Given the description of an element on the screen output the (x, y) to click on. 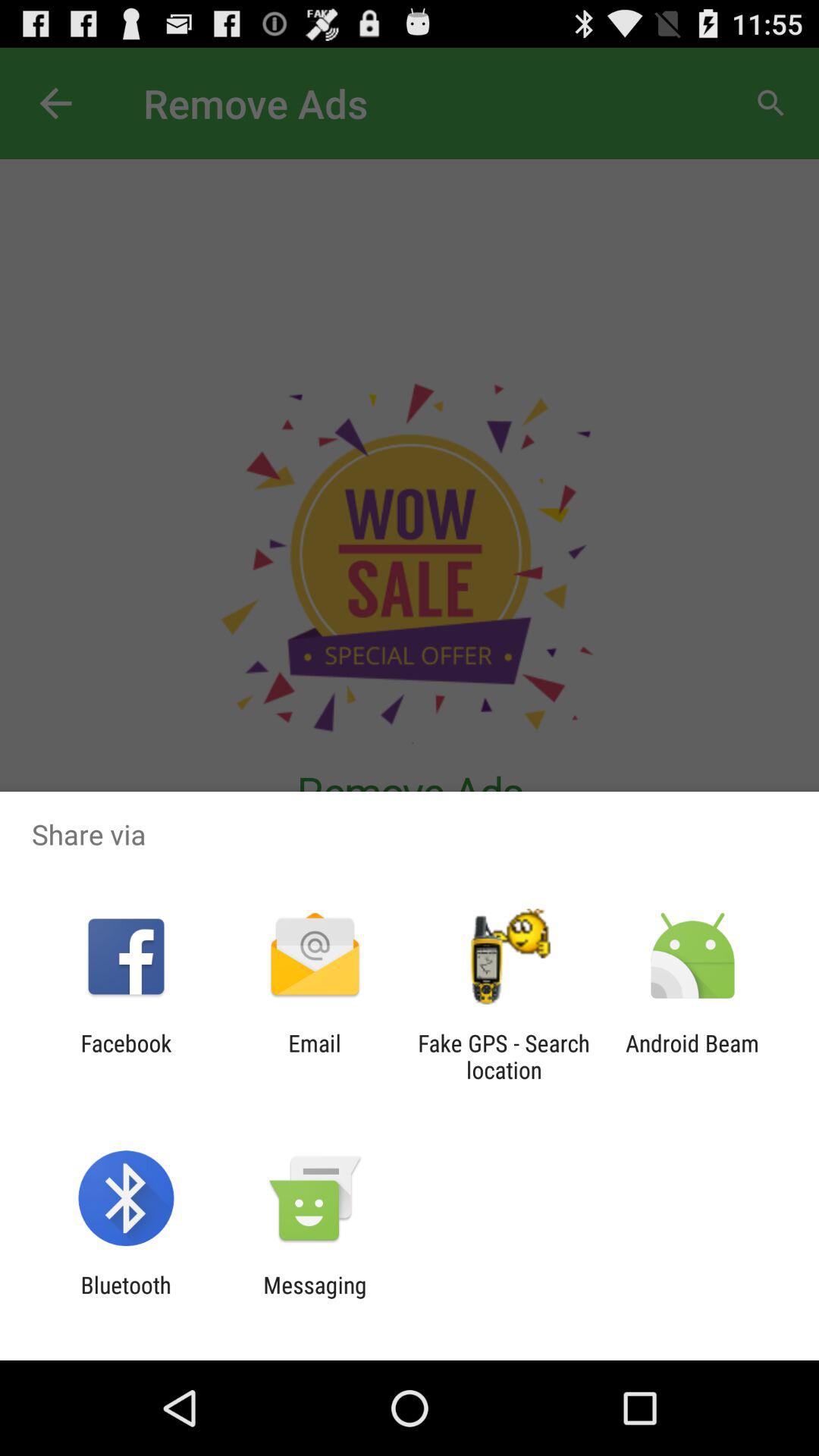
choose fake gps search (503, 1056)
